Given the description of an element on the screen output the (x, y) to click on. 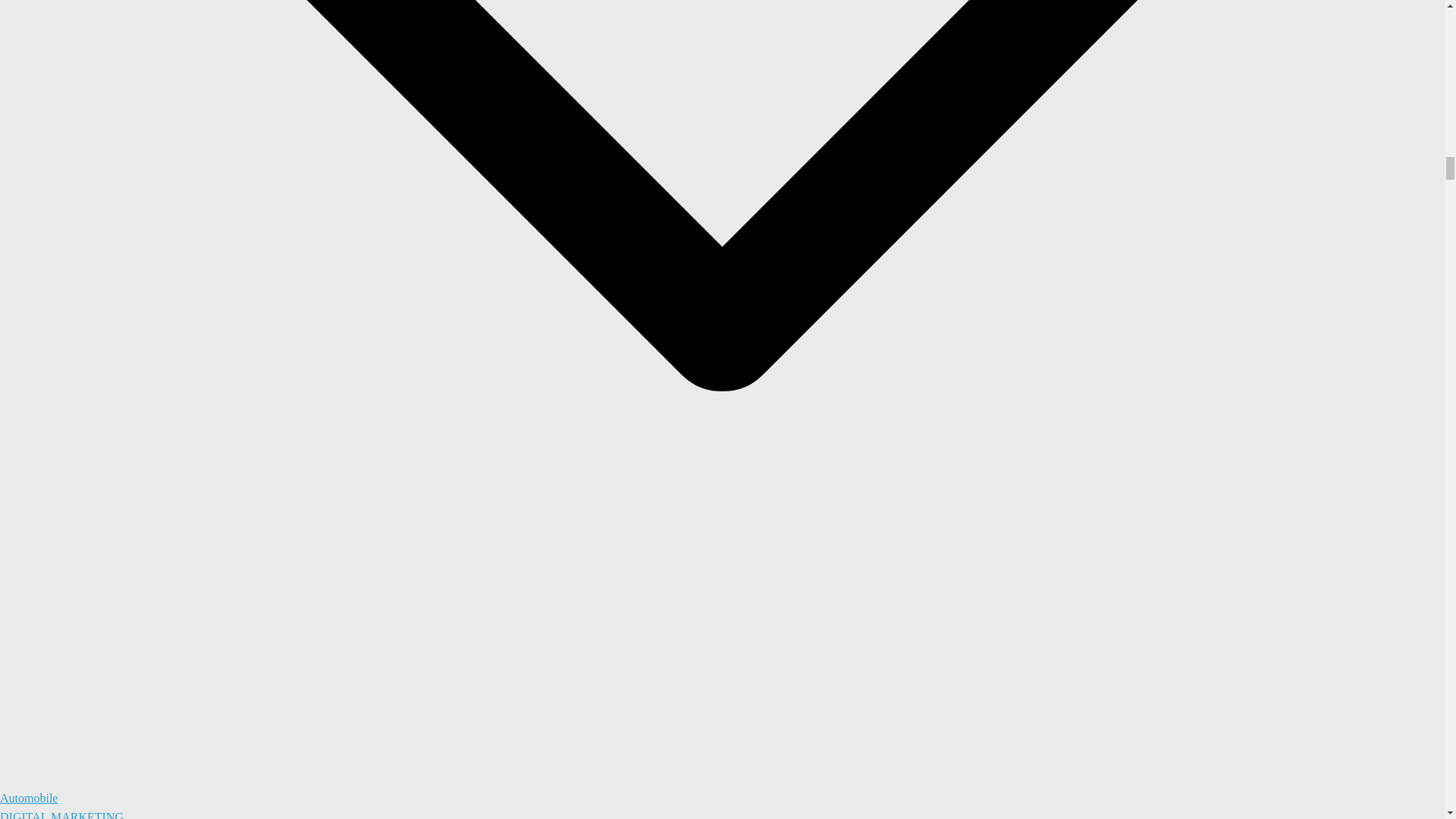
DIGITAL MARKETING (61, 814)
Automobile (29, 797)
